Given the description of an element on the screen output the (x, y) to click on. 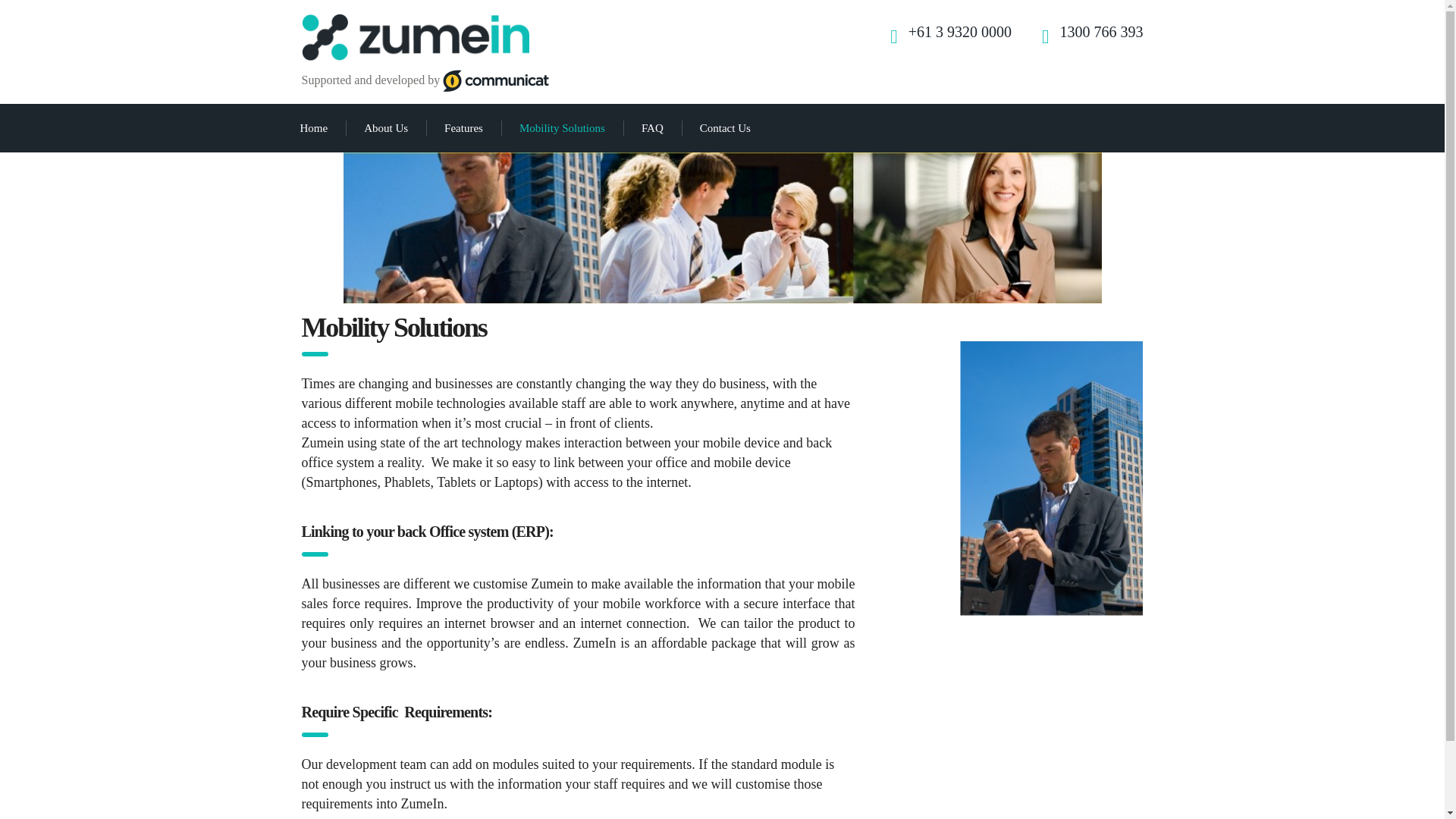
Supported and developed by (425, 80)
zumein banner people (721, 227)
Mobility Solutions (561, 128)
Features (463, 128)
About Us (386, 128)
1300 766 393 (1100, 31)
Contact Us (724, 128)
FAQ (652, 128)
Home (314, 128)
